Given the description of an element on the screen output the (x, y) to click on. 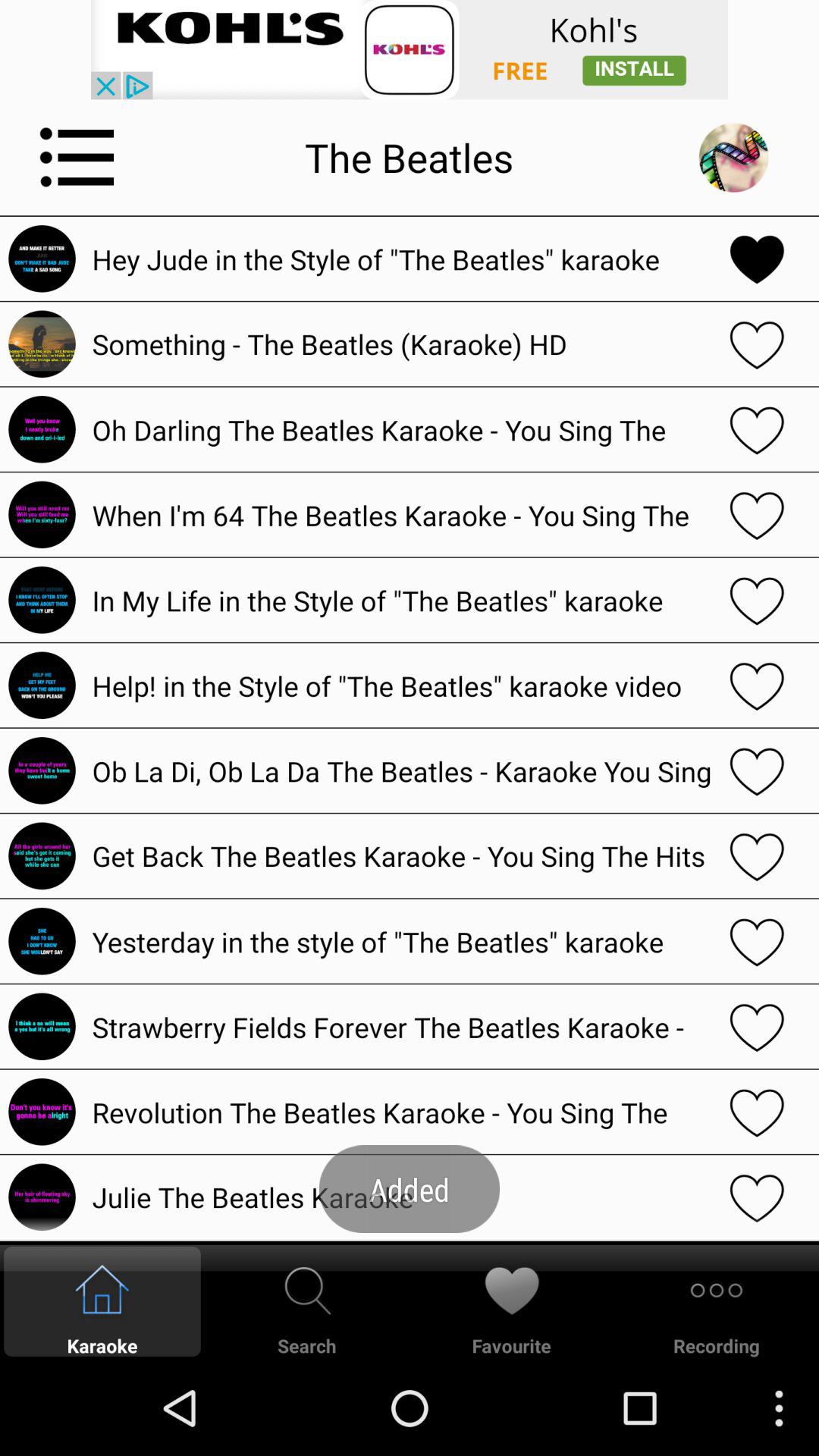
select favorite (756, 343)
